Given the description of an element on the screen output the (x, y) to click on. 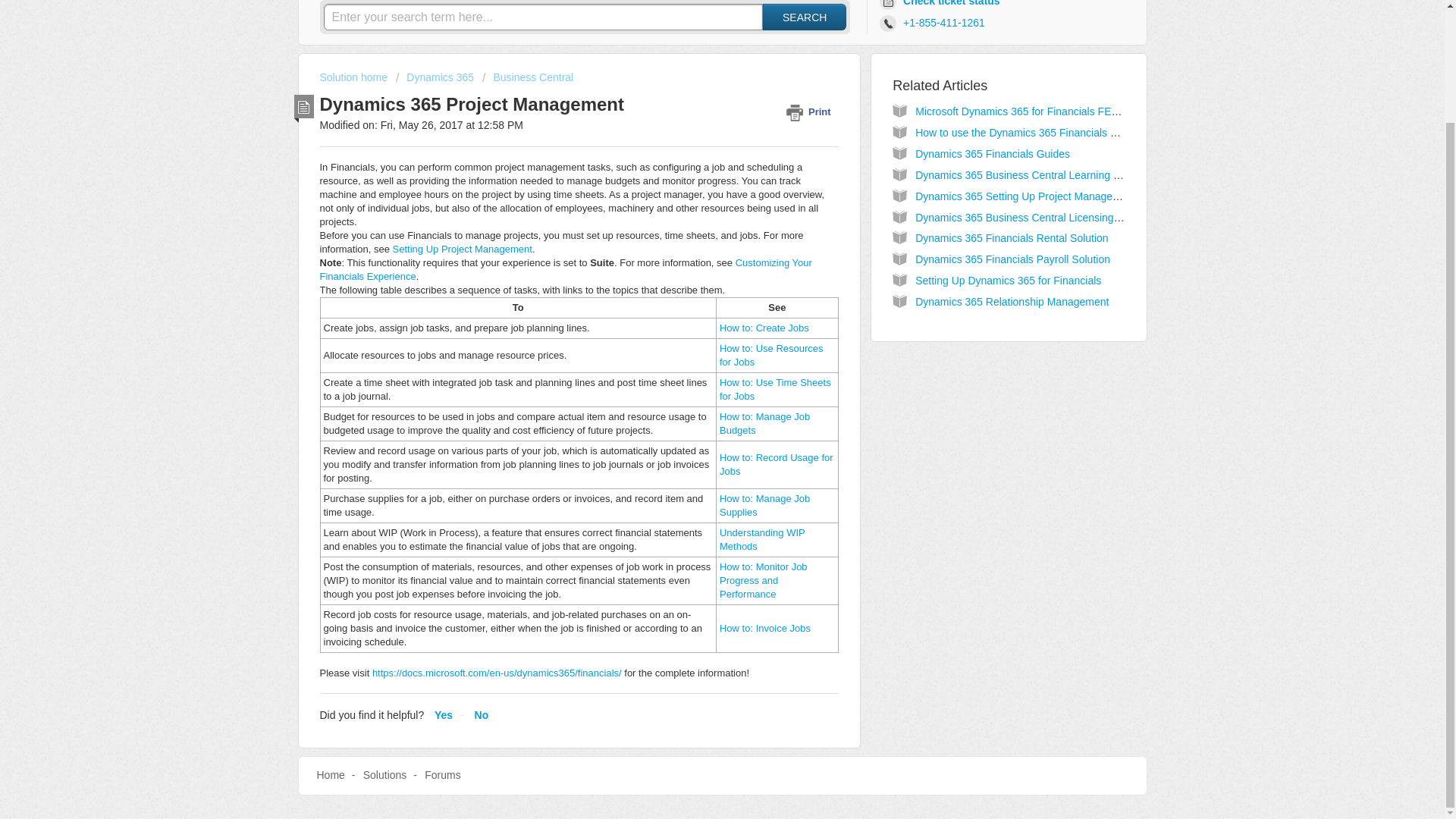
Solution home (355, 77)
How to: Create Jobs (764, 327)
SEARCH (803, 17)
How to: Manage Job Supplies (764, 505)
Dynamics 365 (435, 77)
Check ticket status (941, 6)
Dynamics 365 Financials Rental Solution (1011, 237)
Dynamics 365 Business Central Licensing Guide (1029, 217)
Setting Up Dynamics 365 for Financials (1007, 280)
Dynamics 365 Business Central Learning and Help Resources (1062, 174)
How to use the Dynamics 365 Financials Business Edition API (1061, 132)
Understanding WIP Methods (762, 539)
Print this Article (812, 111)
Dynamics 365 Setting Up Project Management (1025, 196)
